Given the description of an element on the screen output the (x, y) to click on. 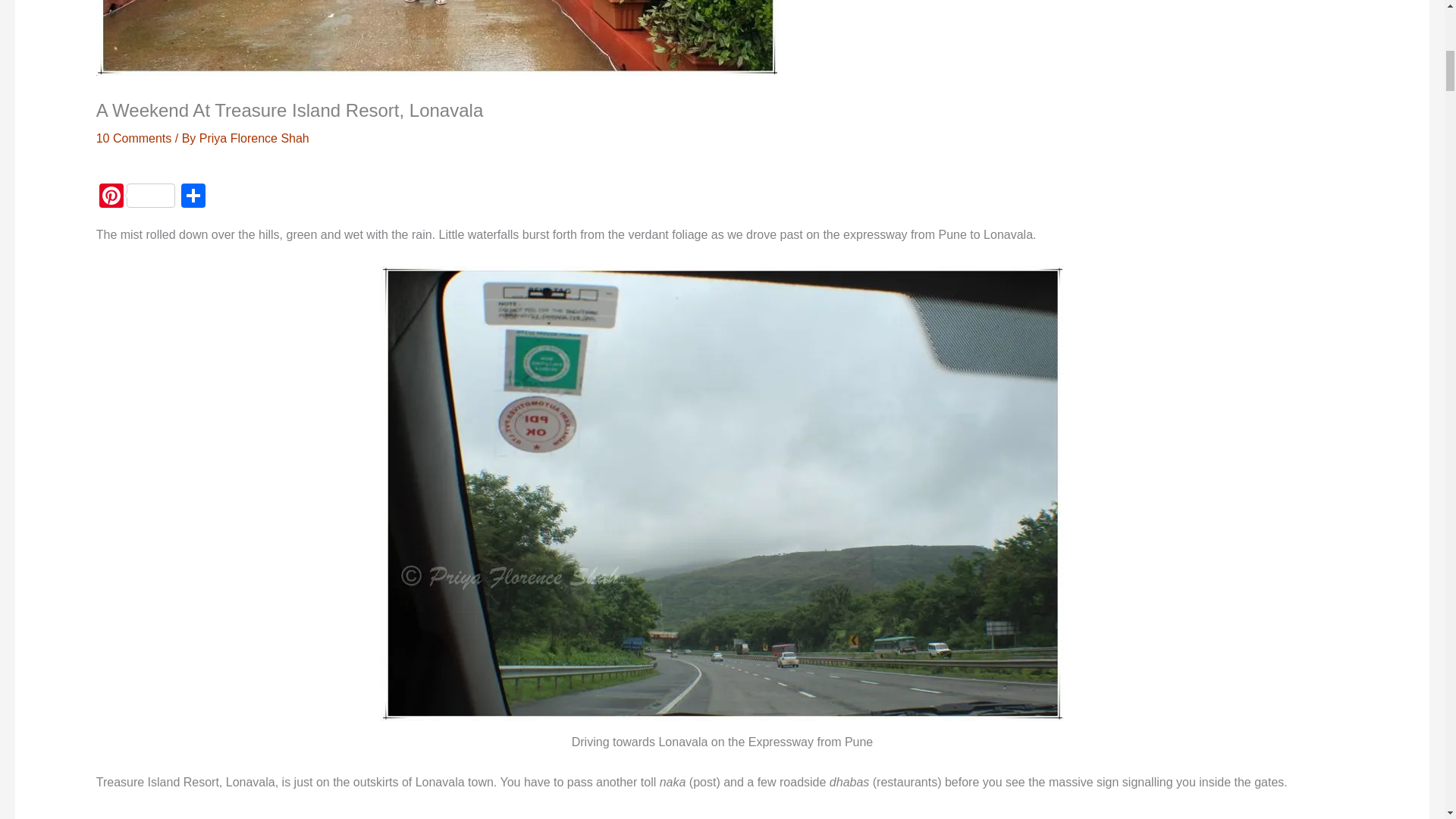
Pinterest (136, 197)
View all posts by Priya Florence Shah (253, 137)
